Given the description of an element on the screen output the (x, y) to click on. 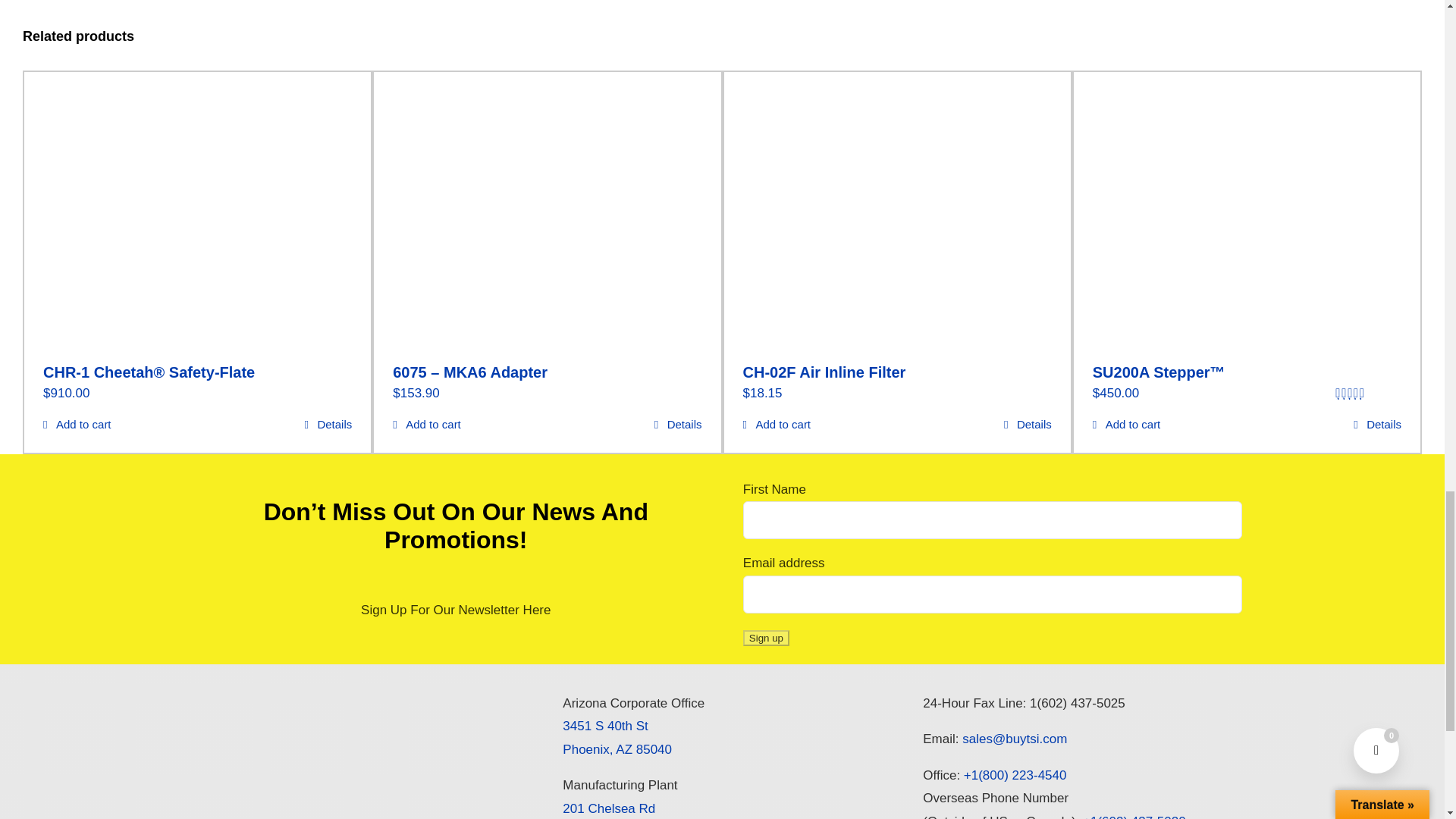
Sign up (765, 637)
